Given the description of an element on the screen output the (x, y) to click on. 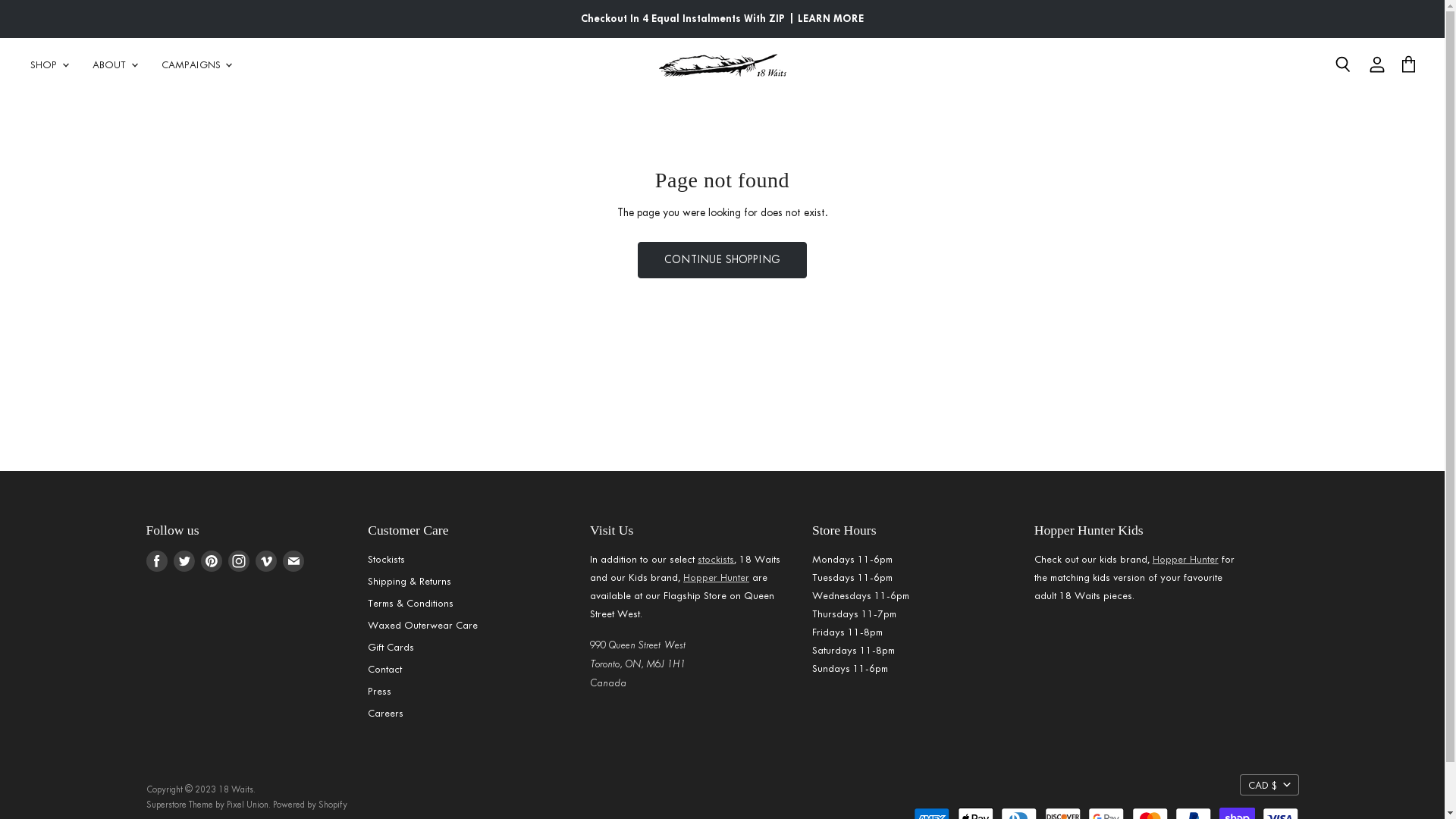
Find us on Twitter Element type: text (183, 560)
Waxed Outerwear Care Element type: text (422, 624)
Shipping & Returns Element type: text (409, 580)
Press Element type: text (379, 690)
CONTINUE SHOPPING Element type: text (721, 259)
View account Element type: text (1376, 64)
Gift Cards Element type: text (390, 646)
Powered by Shopify Element type: text (310, 804)
CAMPAIGNS Element type: text (195, 64)
Hopper Hunter Element type: text (716, 577)
Stockists Element type: text (385, 558)
Superstore Theme by Pixel Union. Element type: text (207, 804)
Search Element type: text (1342, 64)
Find us on Facebook Element type: text (155, 560)
Find us on Instagram Element type: text (237, 560)
Hopper Hunter Element type: text (1185, 558)
ABOUT Element type: text (114, 64)
Terms & Conditions Element type: text (410, 602)
Find us on Pinterest Element type: text (210, 560)
Find us on E-mail Element type: text (292, 560)
Careers Element type: text (385, 712)
stockists Element type: text (715, 558)
CAD $ Element type: text (1268, 783)
Contact Element type: text (384, 668)
View cart Element type: text (1408, 64)
SHOP Element type: text (48, 64)
Find us on Vimeo Element type: text (265, 560)
